Given the description of an element on the screen output the (x, y) to click on. 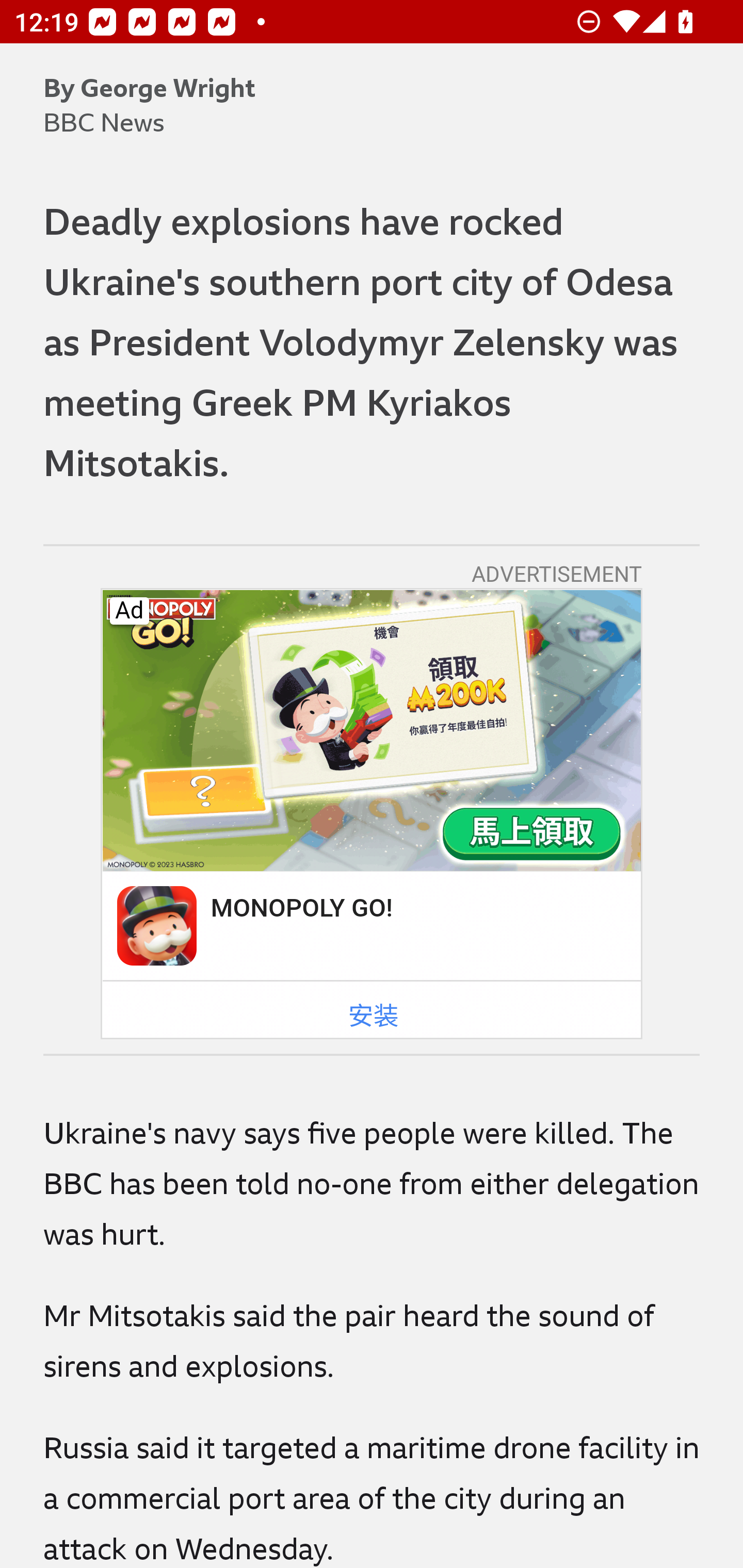
MONOPOLY GO! (300, 906)
安装 (373, 1015)
